Given the description of an element on the screen output the (x, y) to click on. 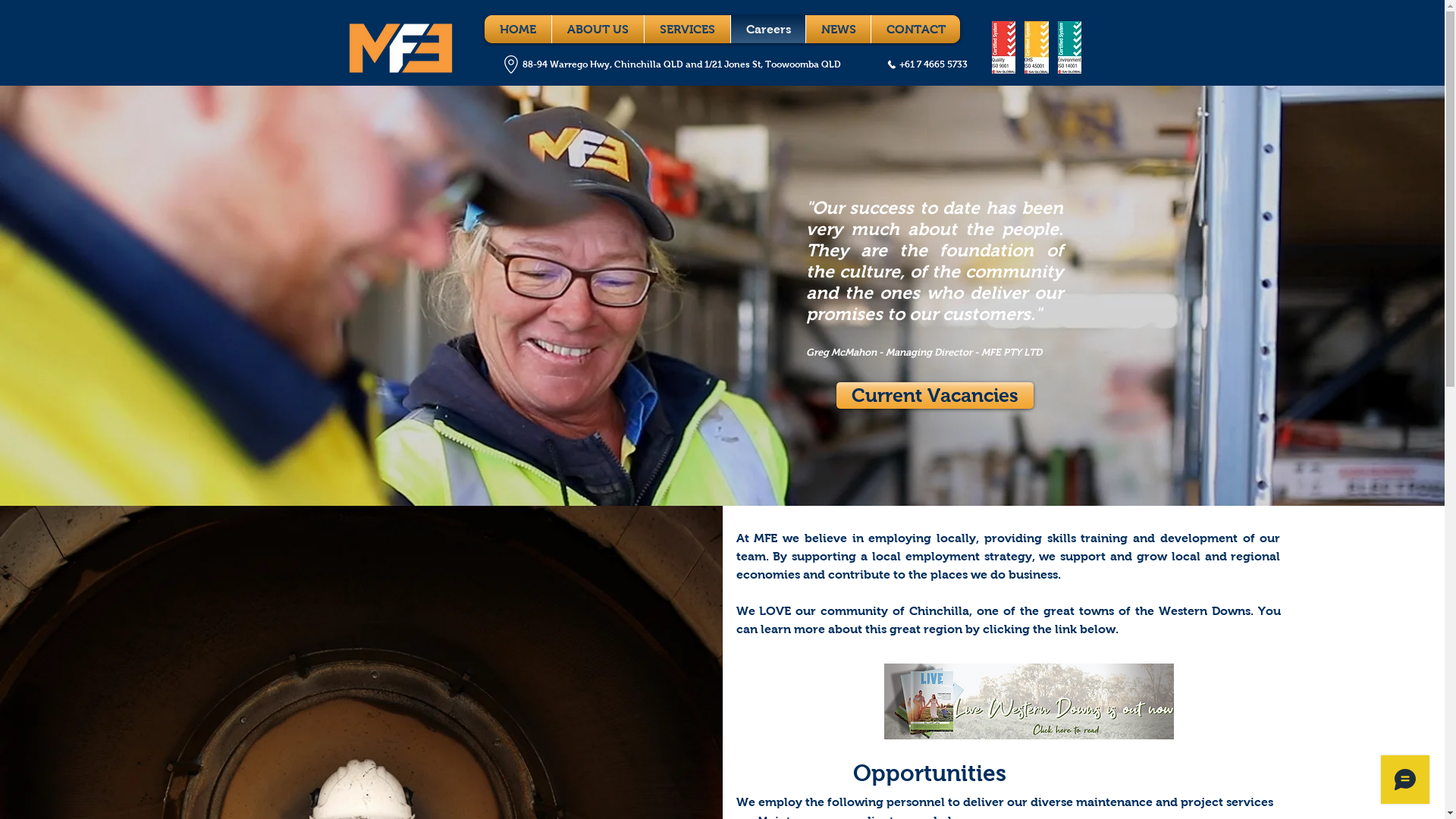
Careers Element type: text (767, 29)
+61 7 4665 5733 Element type: text (926, 63)
NEWS Element type: text (837, 29)
CONTACT Element type: text (915, 29)
HOME Element type: text (517, 29)
SERVICES Element type: text (687, 29)
ABOUT US Element type: text (597, 29)
Current Vacancies Element type: text (933, 395)
